Given the description of an element on the screen output the (x, y) to click on. 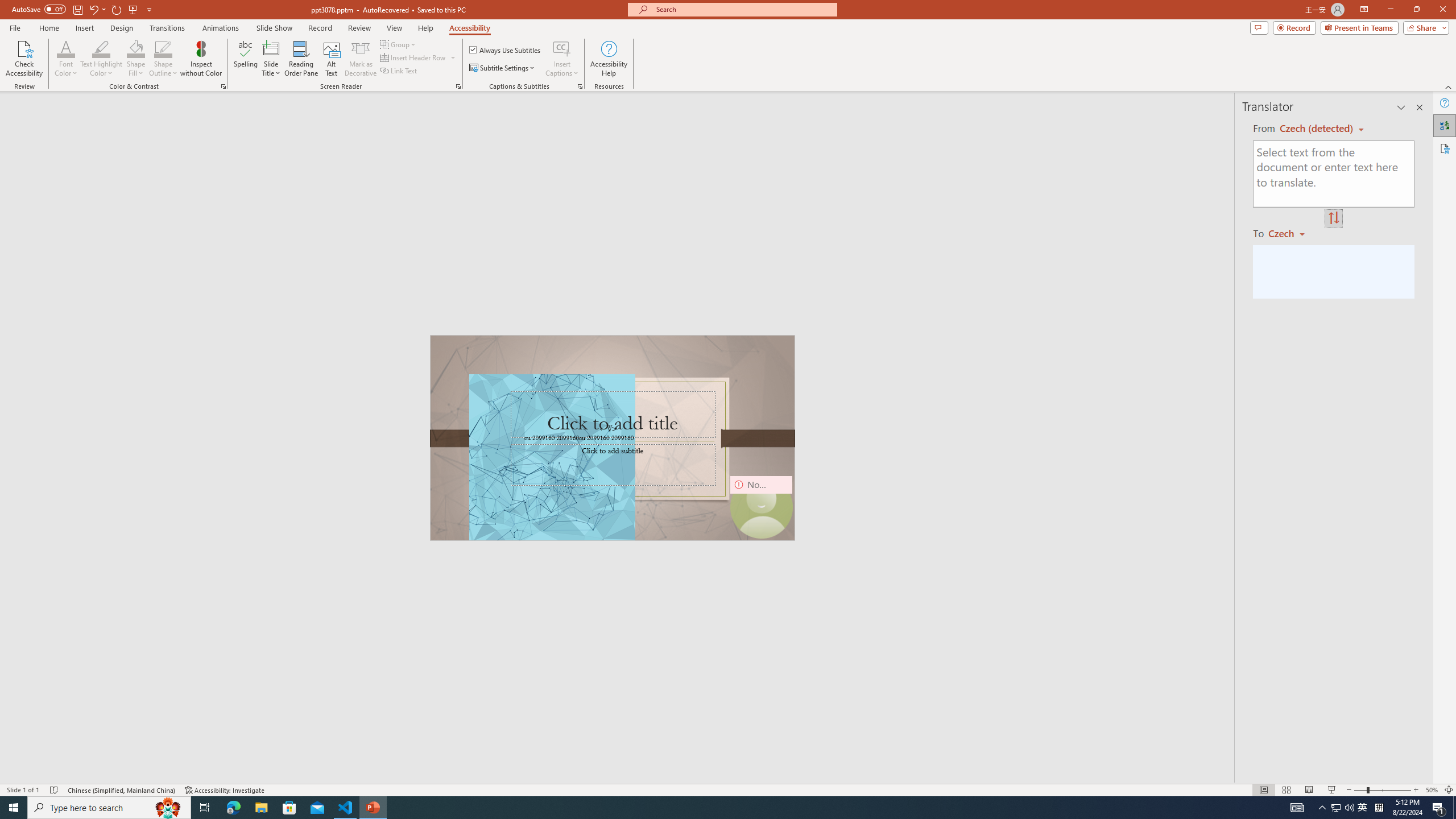
Accessibility Help (608, 58)
Color & Contrast (223, 85)
Screen Reader (458, 85)
